Given the description of an element on the screen output the (x, y) to click on. 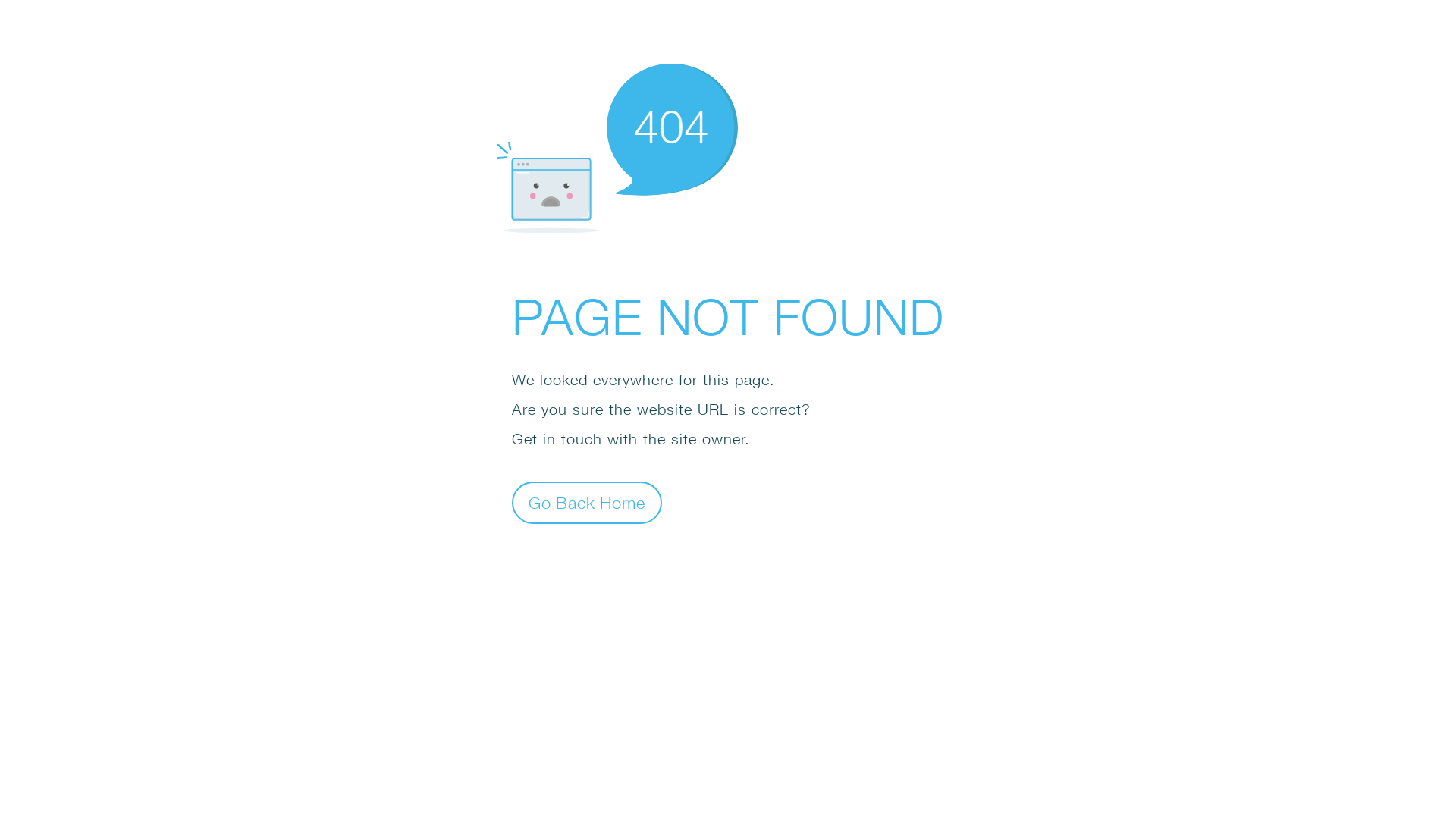
Go Back Home Element type: text (586, 502)
